Given the description of an element on the screen output the (x, y) to click on. 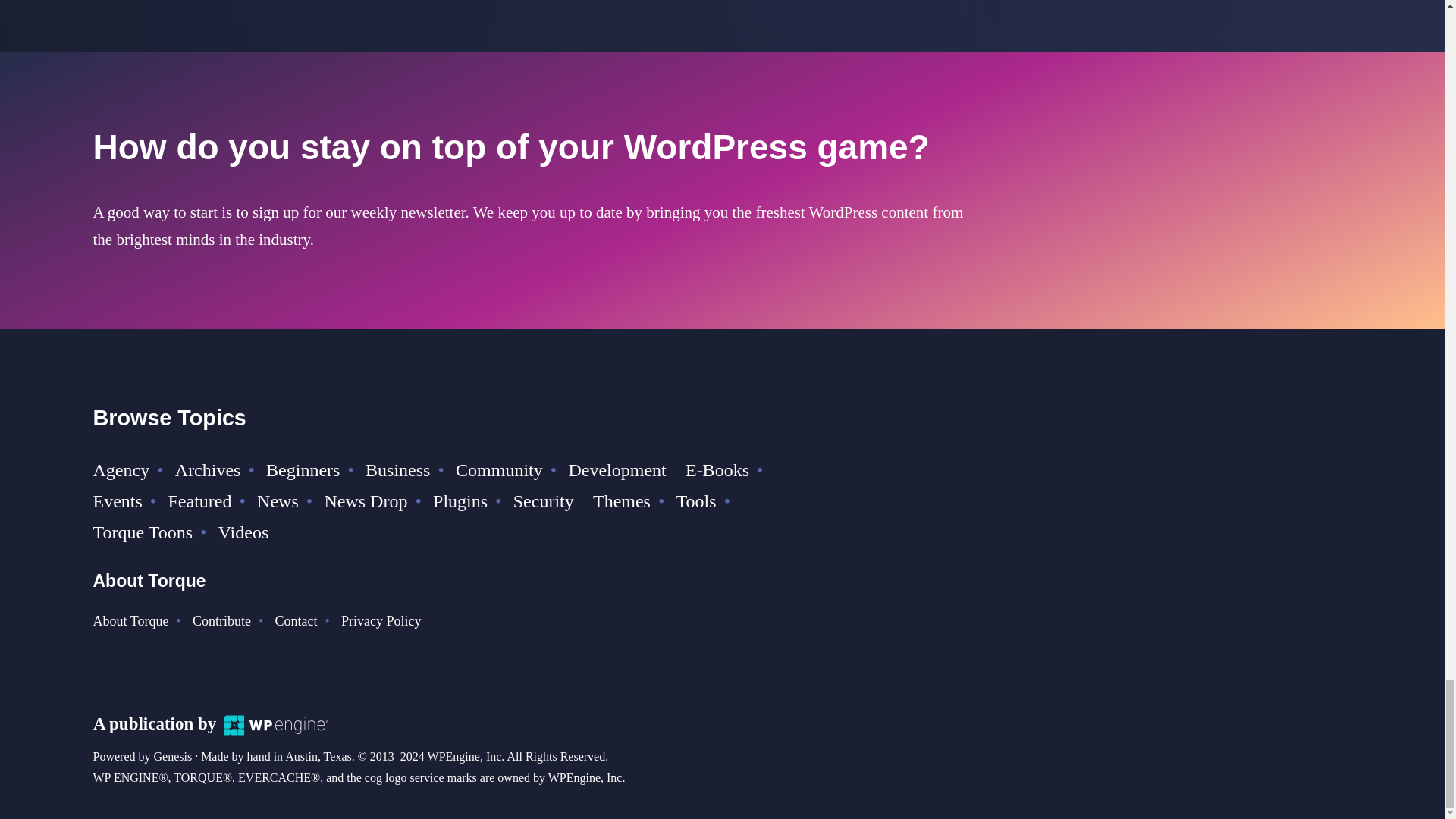
A publication by (210, 723)
